Given the description of an element on the screen output the (x, y) to click on. 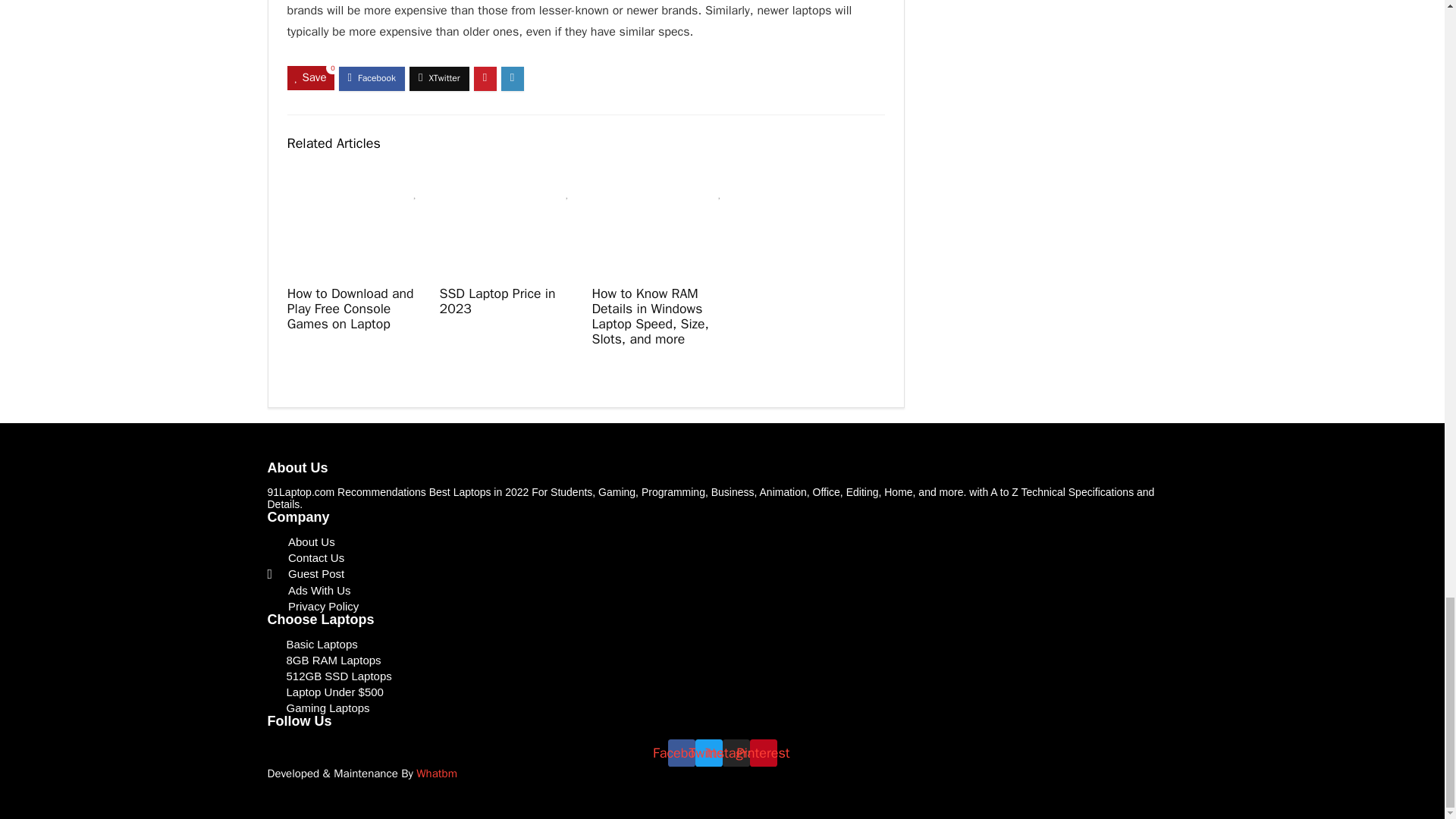
Guest Post (721, 573)
SSD Laptop Price in 2023 (497, 300)
512GB SSD Laptops (721, 675)
About Us (721, 541)
Ads With Us (721, 590)
Contact Us (721, 557)
How to Download and Play Free Console Games on Laptop (349, 308)
8GB RAM Laptops (721, 659)
Basic Laptops (721, 644)
